Given the description of an element on the screen output the (x, y) to click on. 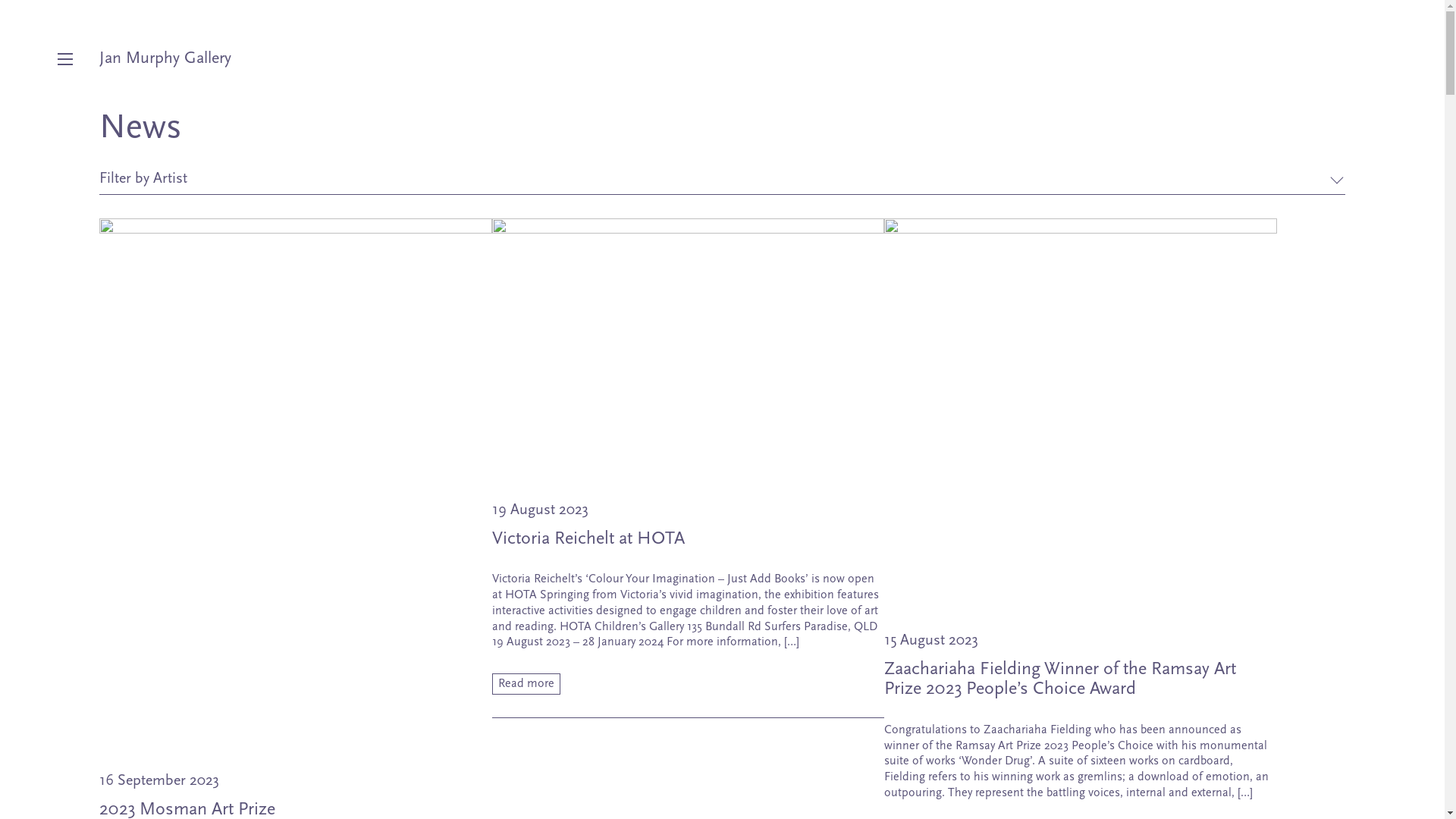
Read more Element type: text (526, 683)
Jan Murphy Gallery Element type: text (165, 58)
Filter by Artist Element type: text (722, 178)
Victoria Reichelt at HOTA Element type: hover (688, 349)
Victoria Reichelt at HOTA Element type: text (588, 539)
2023 Mosman Art Prize Element type: hover (295, 484)
